Given the description of an element on the screen output the (x, y) to click on. 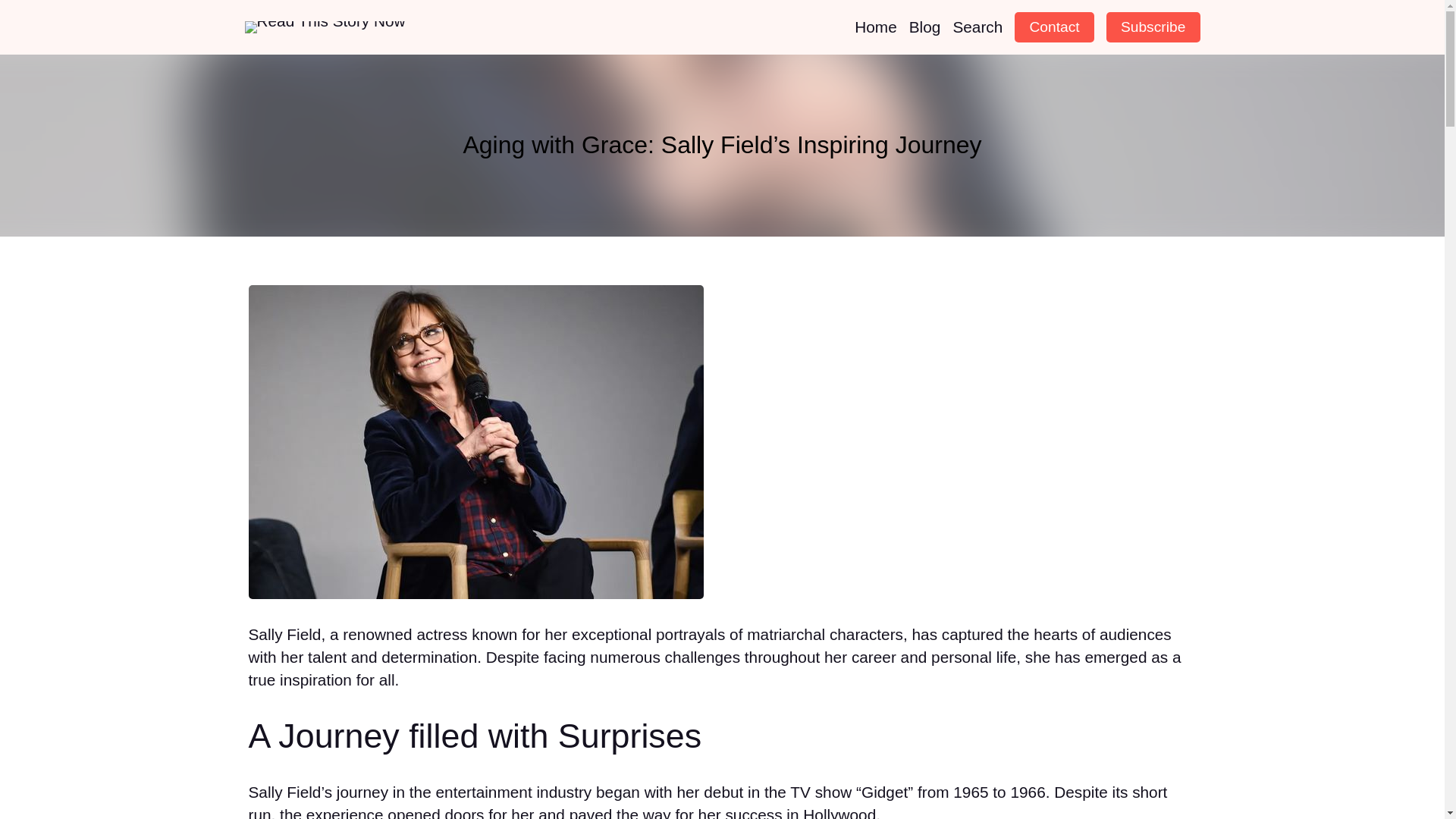
Subscribe (1152, 27)
Blog (924, 26)
Home (875, 26)
Search (977, 26)
Contact (1054, 27)
